Given the description of an element on the screen output the (x, y) to click on. 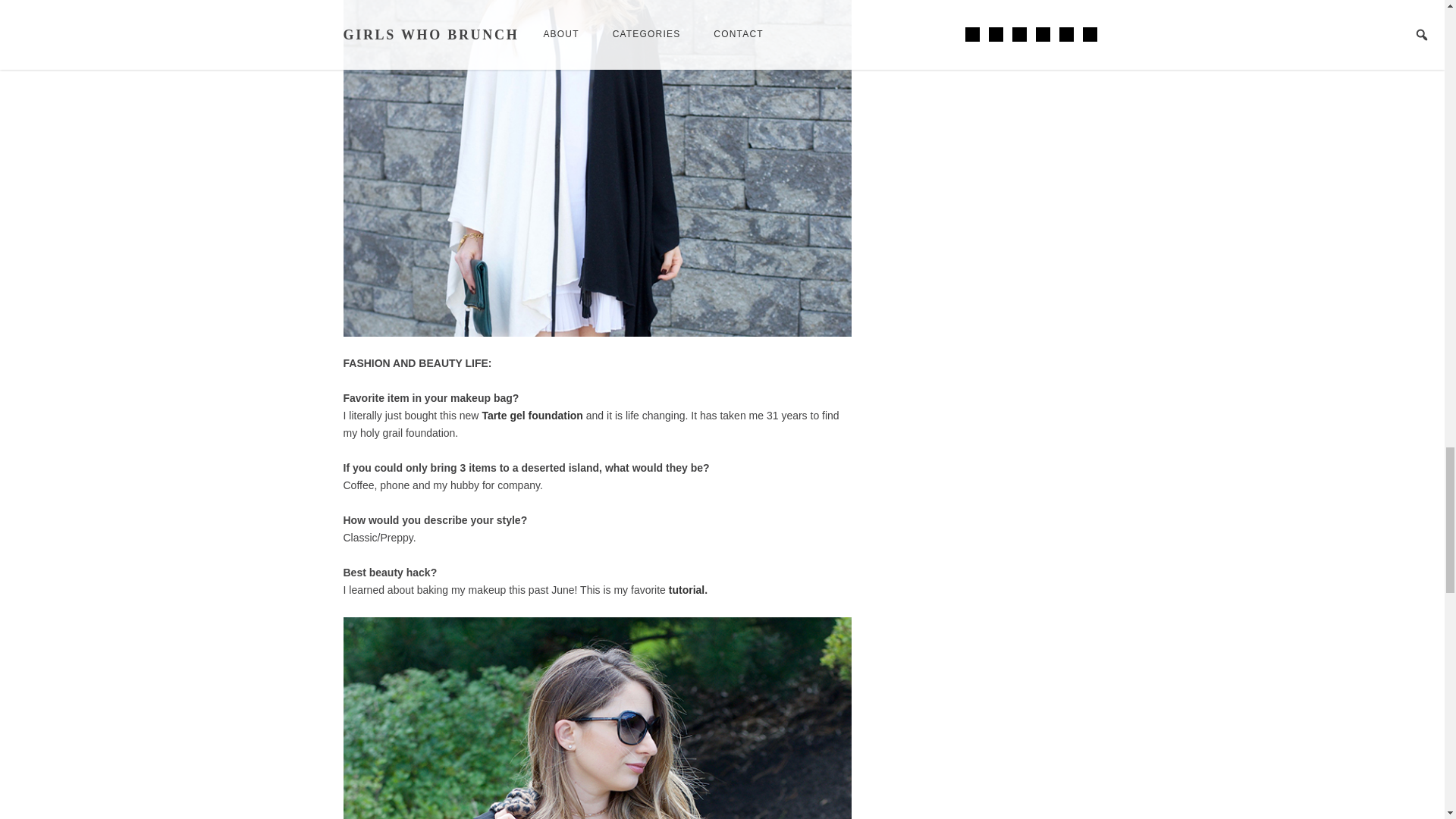
tutorial (686, 589)
Tarte gel foundation (532, 415)
